Given the description of an element on the screen output the (x, y) to click on. 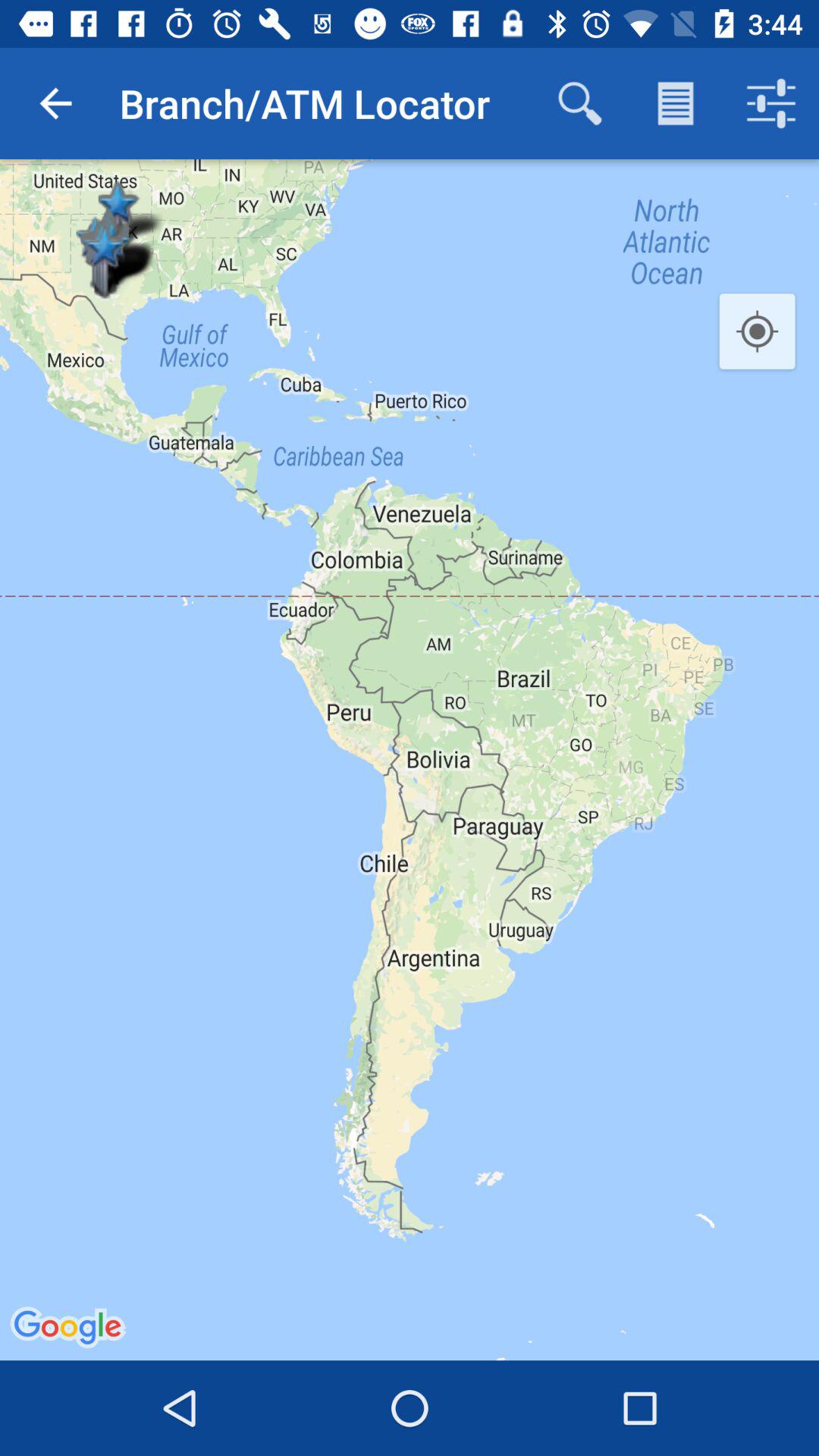
press the icon to the right of the branch/atm locator icon (579, 103)
